Given the description of an element on the screen output the (x, y) to click on. 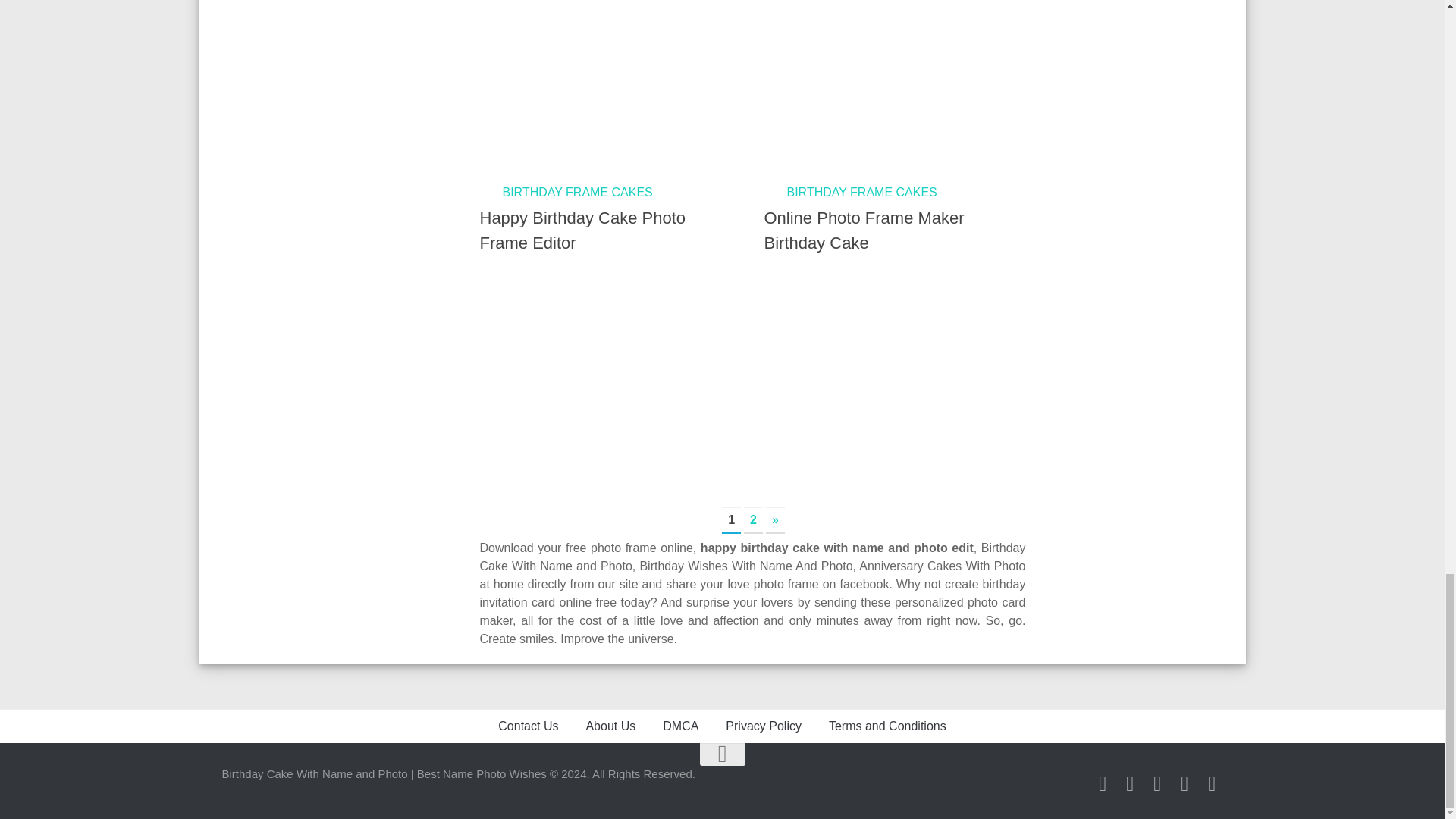
BIRTHDAY FRAME CAKES (862, 192)
2 (753, 519)
Permalink to Happy Birthday Cake Photo Frame Editor (594, 85)
Online Photo Frame Maker Birthday Cake (863, 230)
BIRTHDAY FRAME CAKES (577, 192)
Happy Birthday Cake Photo Frame Editor (582, 230)
